Given the description of an element on the screen output the (x, y) to click on. 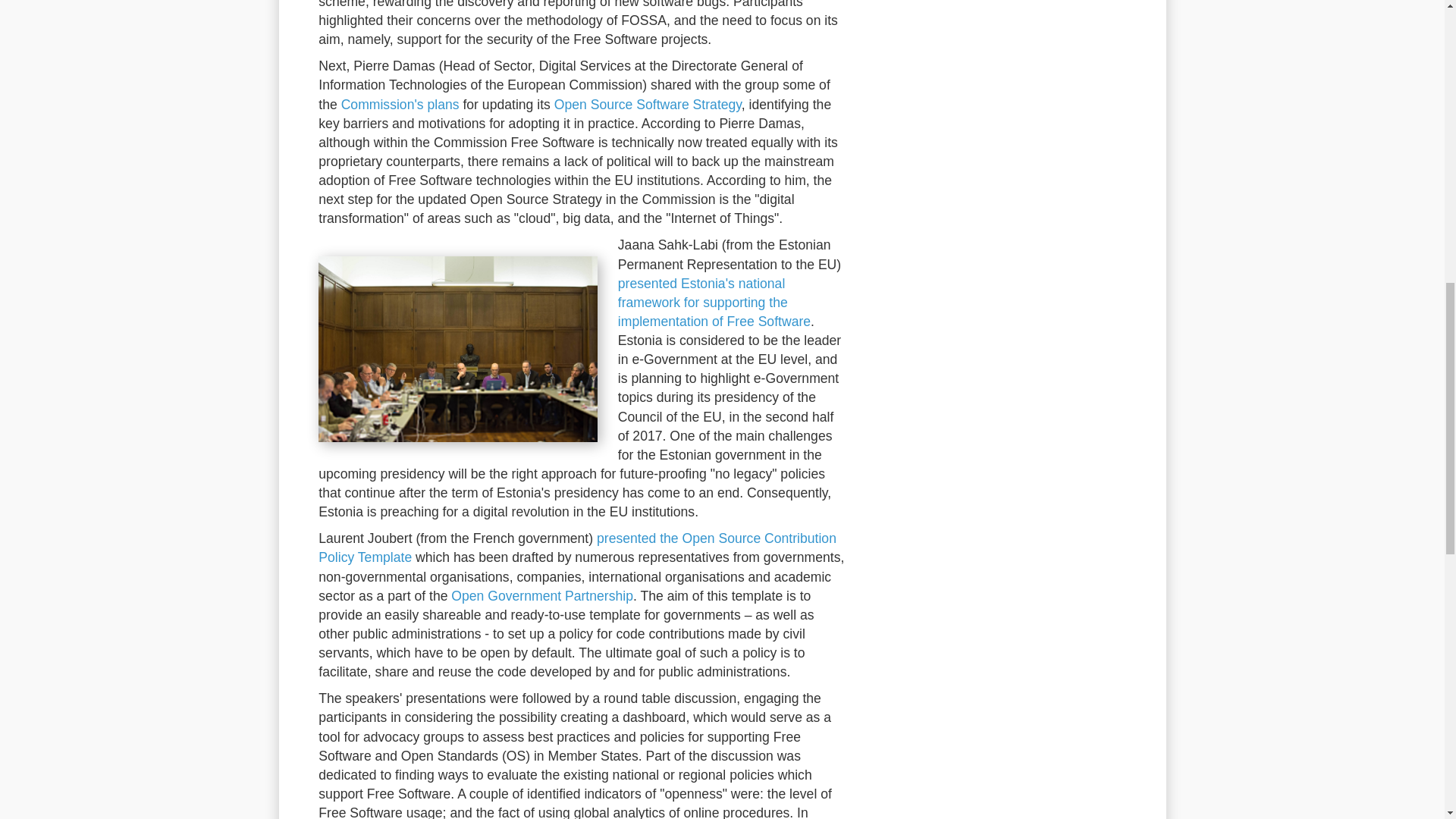
presented the Open Source Contribution Policy Template (576, 547)
Commission's plans (400, 104)
Open Government Partnership (542, 595)
Open Source Software Strategy (647, 104)
